Given the description of an element on the screen output the (x, y) to click on. 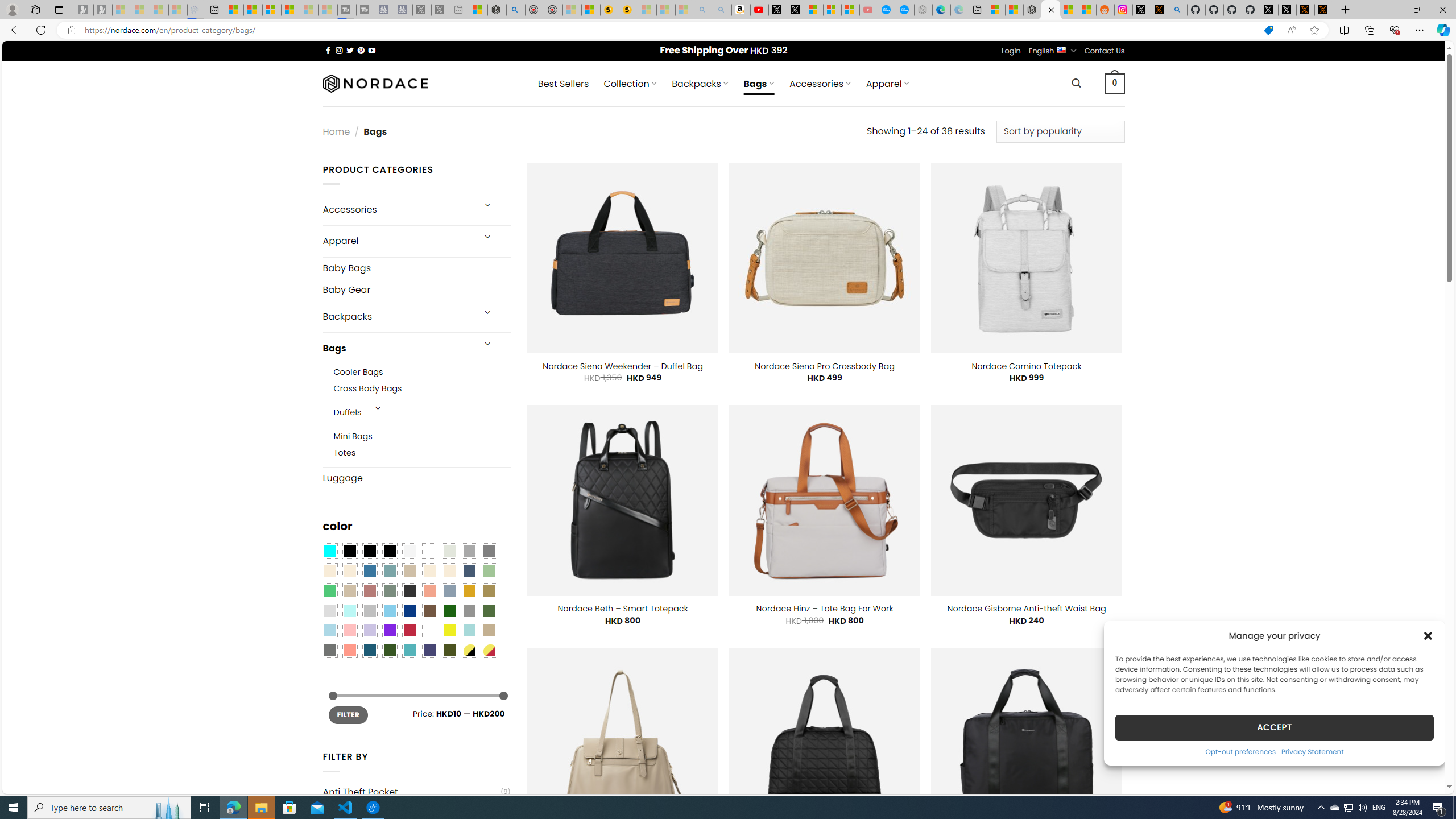
Search (1076, 83)
Browser essentials (1394, 29)
Light Green (488, 570)
Minimize (1390, 9)
Newsletter Sign Up - Sleeping (102, 9)
Copilot (Ctrl+Shift+.) (1442, 29)
Light Taupe (349, 590)
X Privacy Policy (1324, 9)
Sage (389, 590)
Baby Bags (416, 267)
Pearly White (408, 550)
Microsoft Start - Sleeping (309, 9)
Backpacks (397, 316)
